Given the description of an element on the screen output the (x, y) to click on. 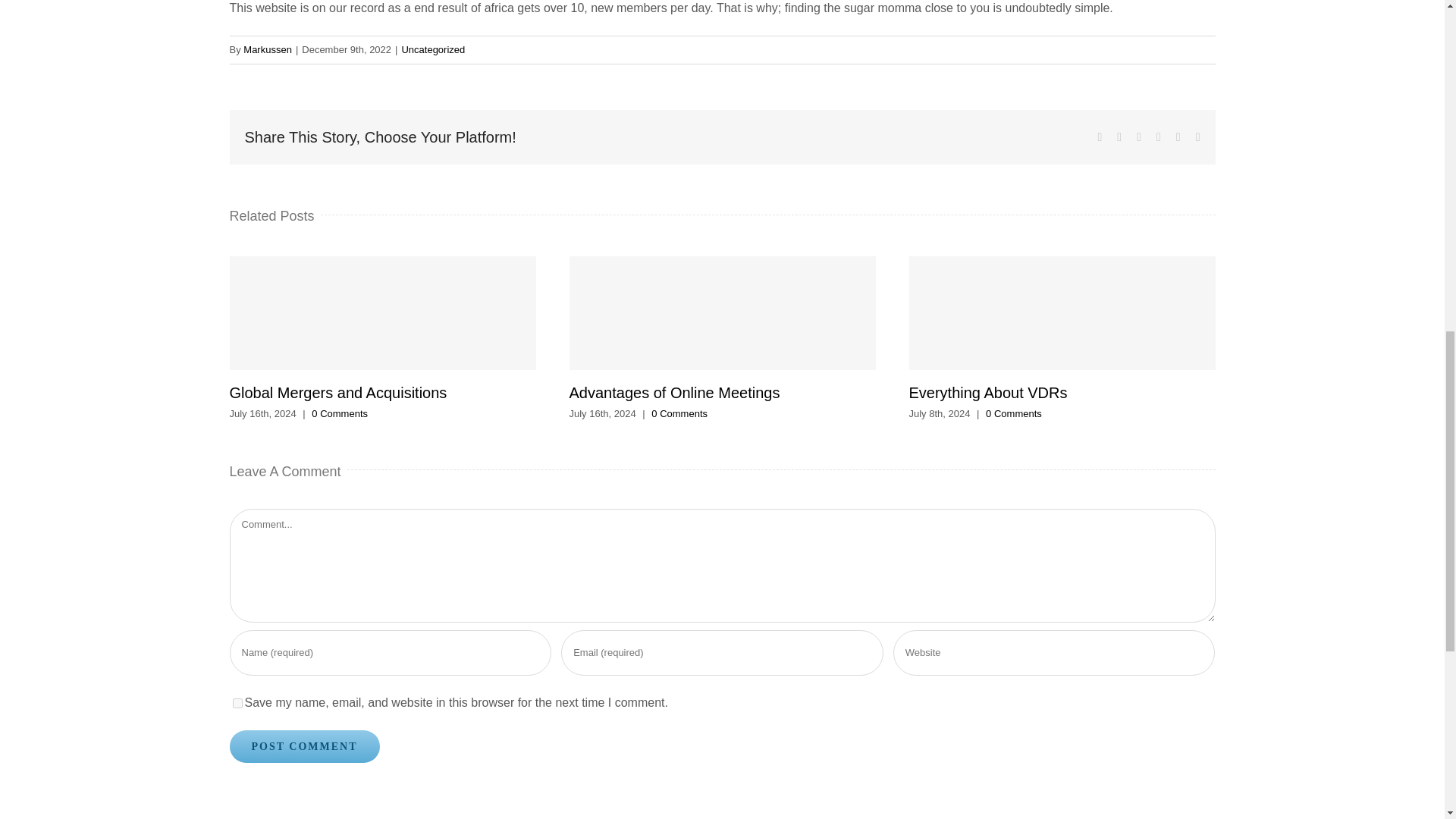
Everything About VDRs (987, 392)
Global Mergers and Acquisitions (337, 392)
Markussen (267, 49)
Post Comment (303, 746)
Advantages of Online Meetings (673, 392)
Uncategorized (432, 49)
yes (236, 703)
Posts by Markussen (267, 49)
